Given the description of an element on the screen output the (x, y) to click on. 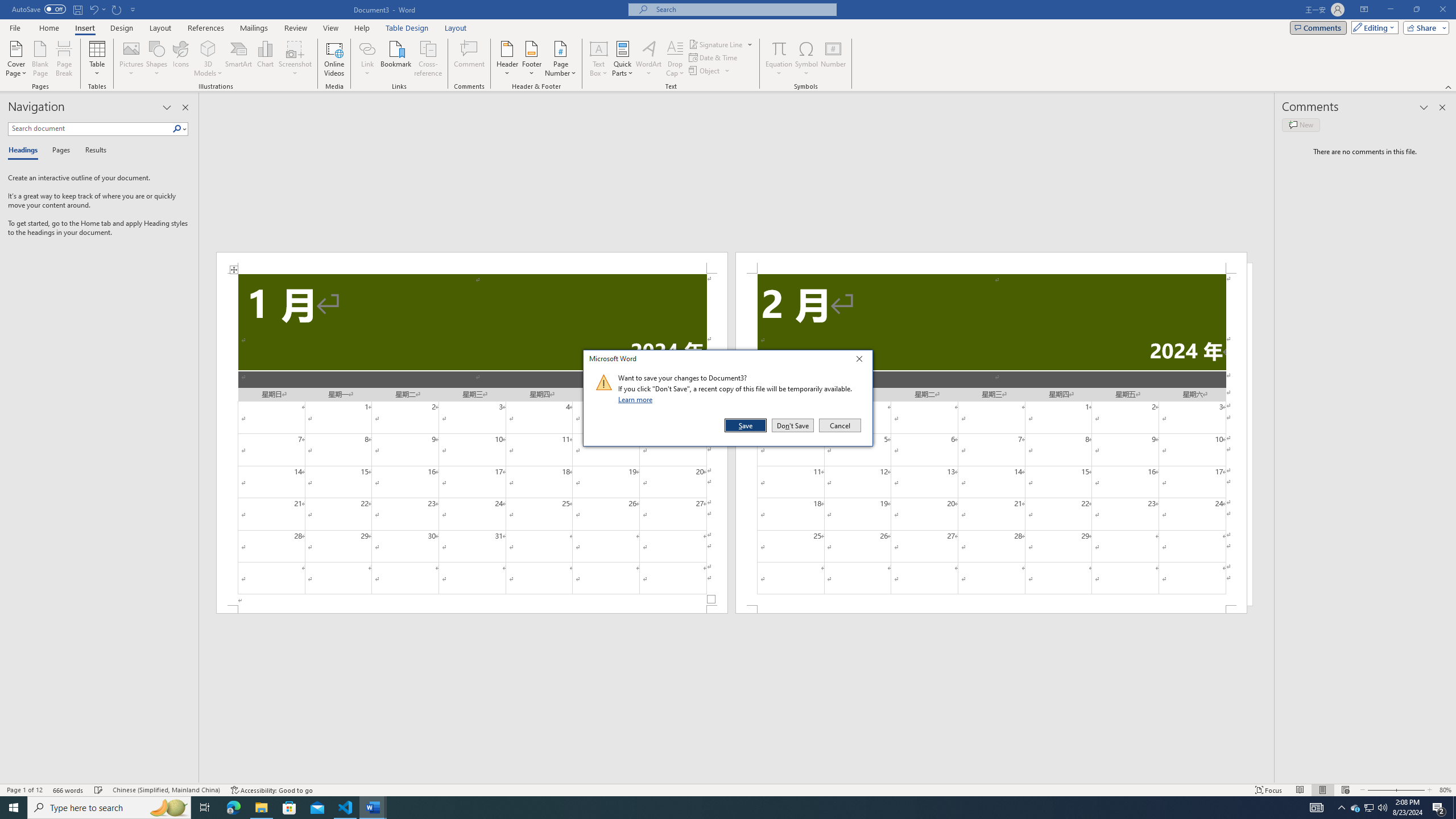
Online Videos... (333, 58)
Footer -Section 2- (991, 609)
Link (367, 58)
Number... (833, 58)
Pictures (131, 58)
Equation (778, 58)
